Given the description of an element on the screen output the (x, y) to click on. 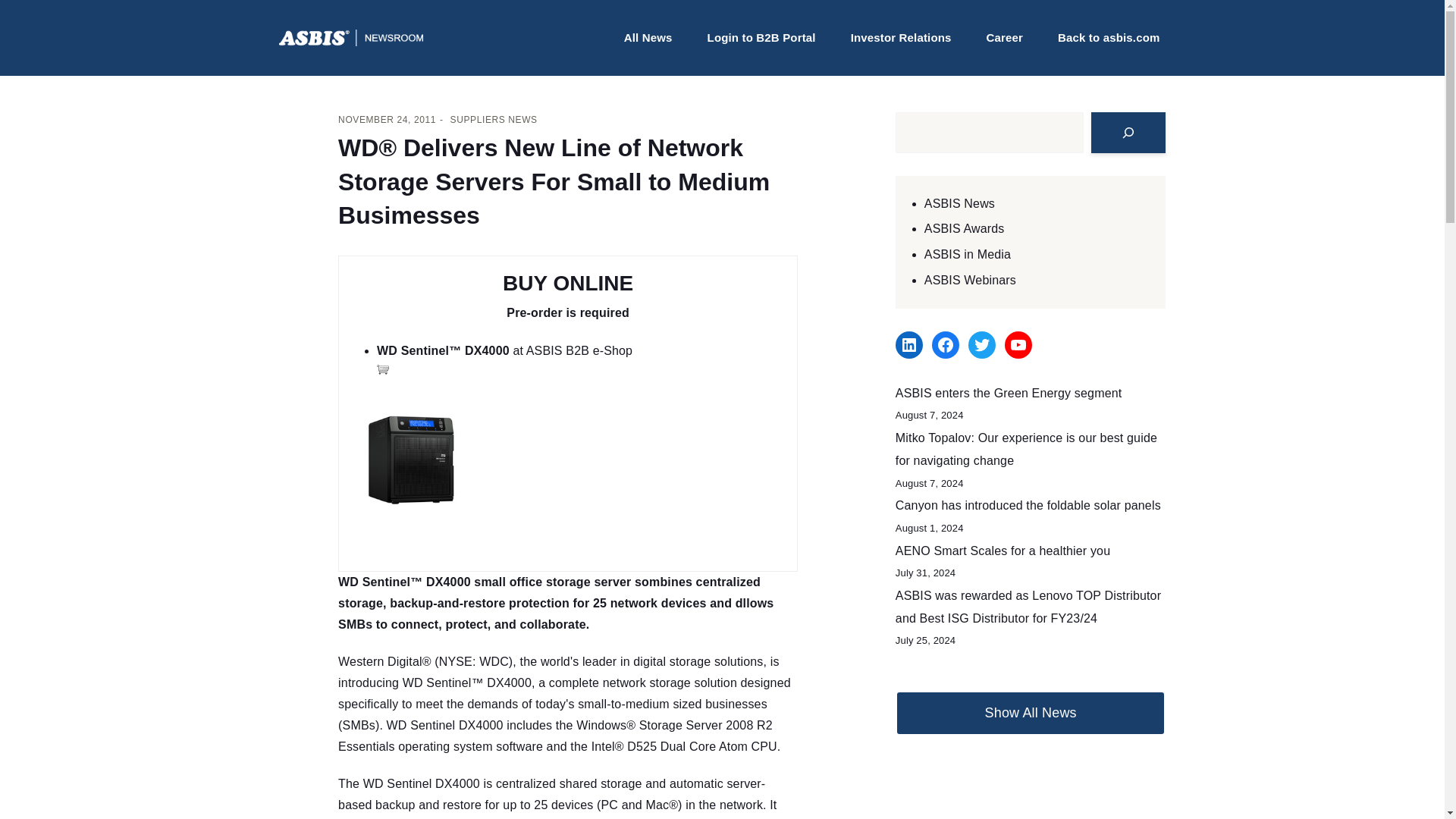
Back to asbis.com (1108, 37)
YouTube (1018, 344)
Facebook (945, 344)
ASBIS Webinars (970, 279)
LinkedIn (909, 344)
WD Sentinel DX4000 (421, 783)
ASBIS News (959, 203)
AENO Smart Scales for a healthier you (1002, 550)
Buy online at ASBIS B2B e-Shop (383, 368)
Canyon has introduced the foldable solar panels (1027, 504)
